Given the description of an element on the screen output the (x, y) to click on. 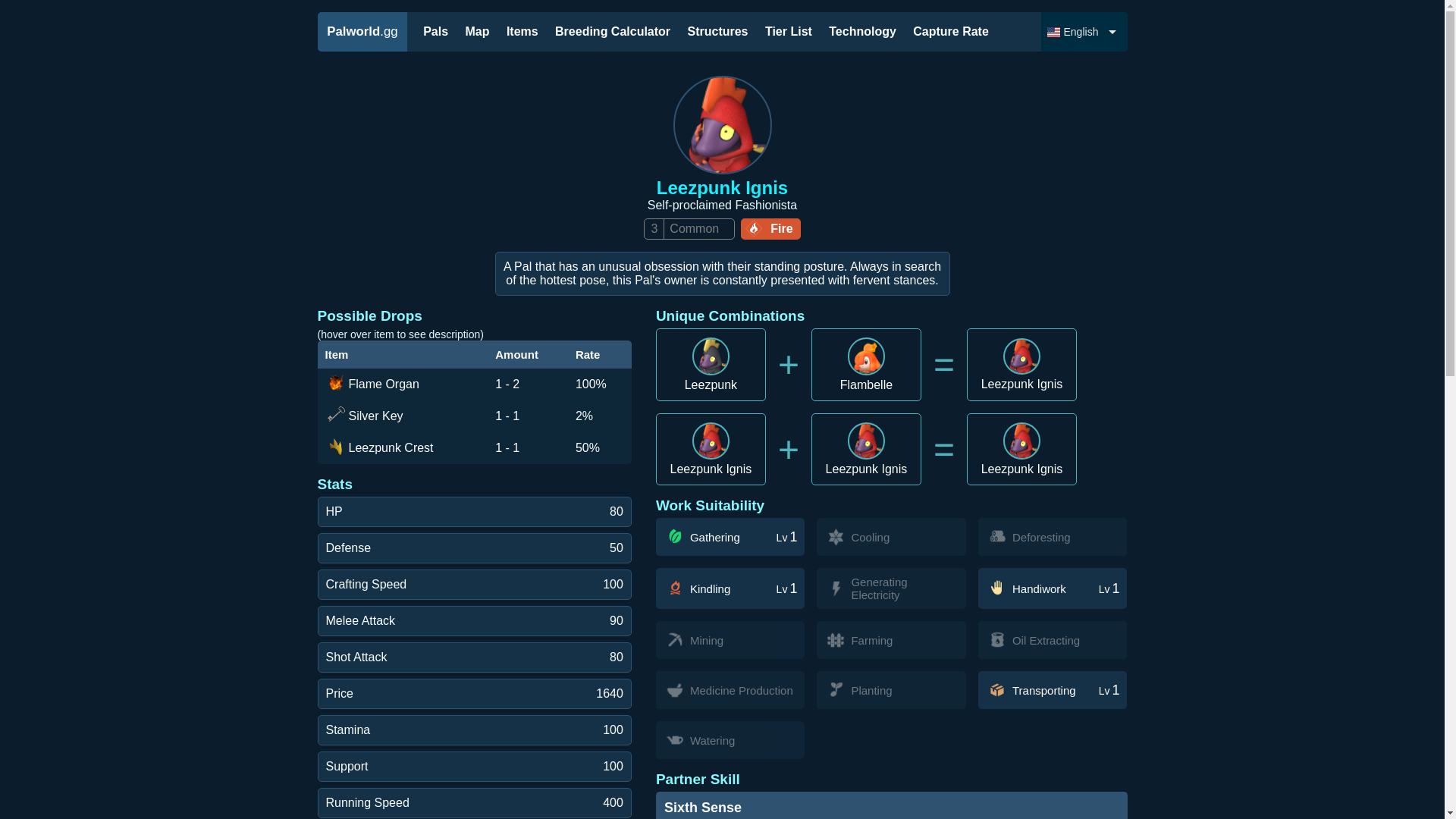
Leezpunk Ignis (1021, 364)
Leezpunk (710, 364)
Items (522, 31)
Breeding Calculator (612, 31)
Flambelle (865, 364)
Leezpunk Ignis (865, 449)
Structures (717, 31)
Capture Rate (950, 31)
Map (476, 31)
Technology (862, 31)
